Given the description of an element on the screen output the (x, y) to click on. 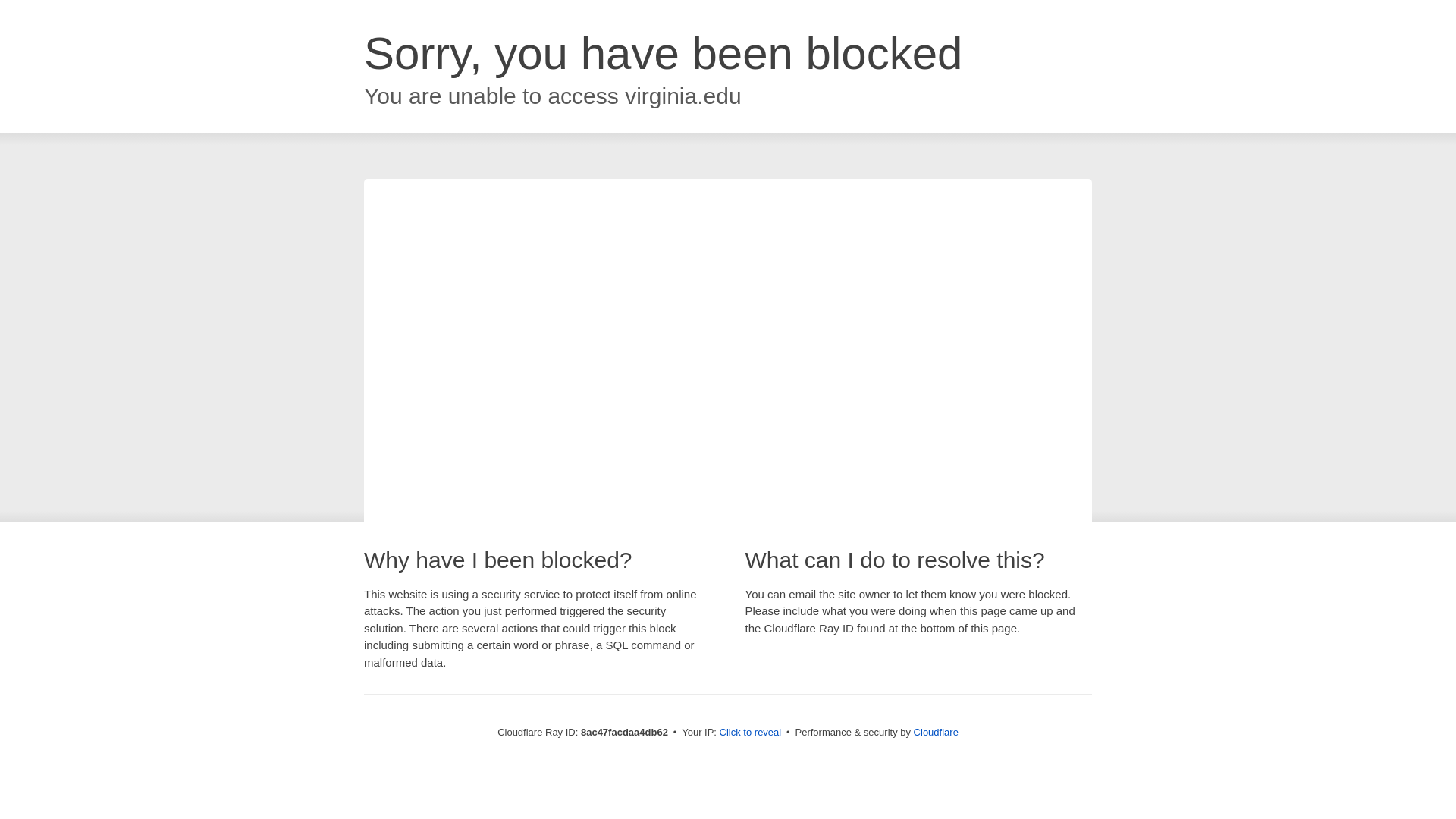
Cloudflare (936, 731)
Click to reveal (750, 732)
